Given the description of an element on the screen output the (x, y) to click on. 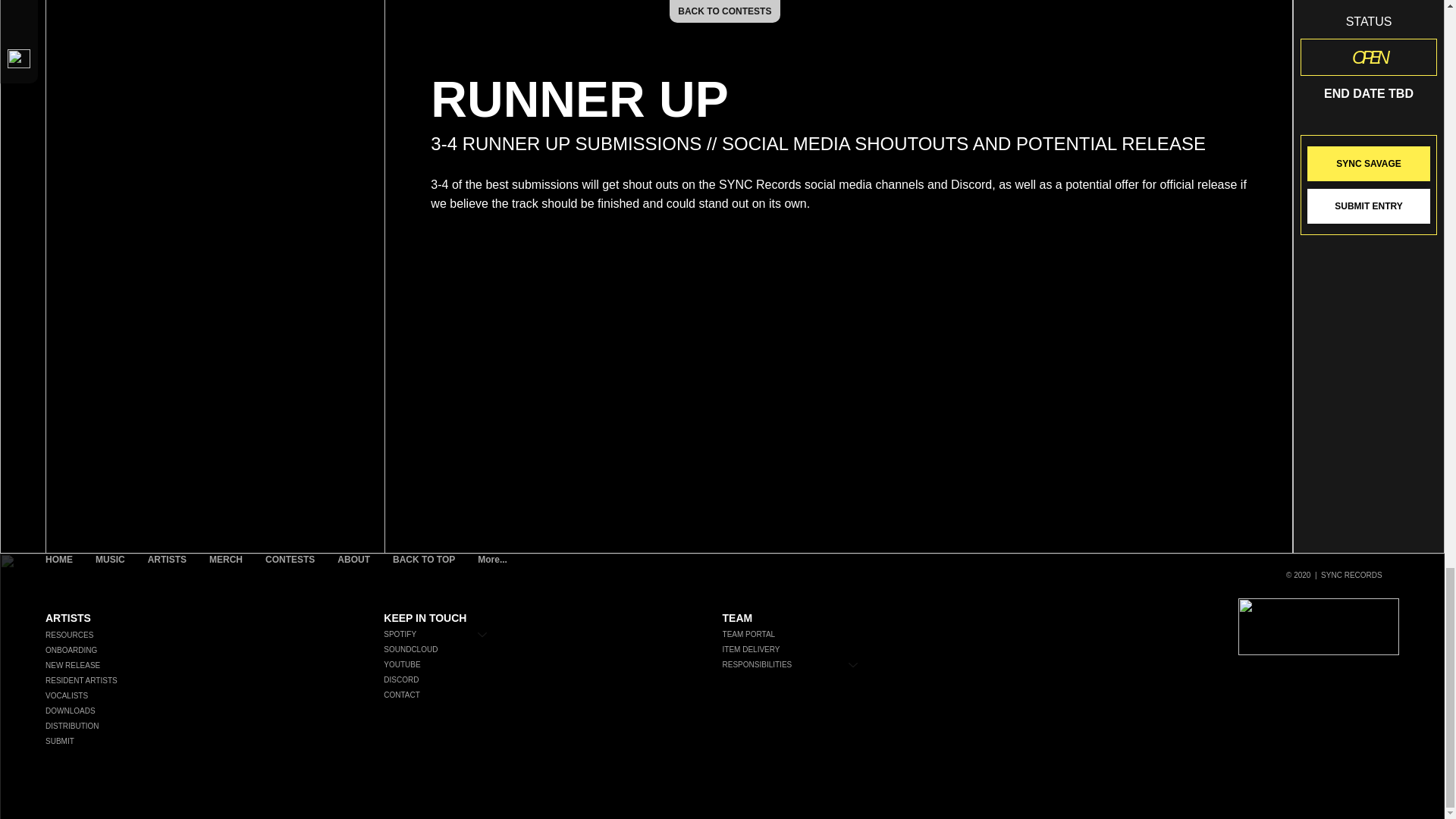
MERCH (225, 575)
VOCALISTS (212, 695)
ONBOARDING (212, 650)
HOME (58, 575)
YOUTUBE (443, 664)
BACK TO TOP (423, 575)
NEW RELEASE (212, 665)
RESIDENT ARTISTS (212, 680)
DISCORD (443, 679)
ARTISTS (167, 575)
